Given the description of an element on the screen output the (x, y) to click on. 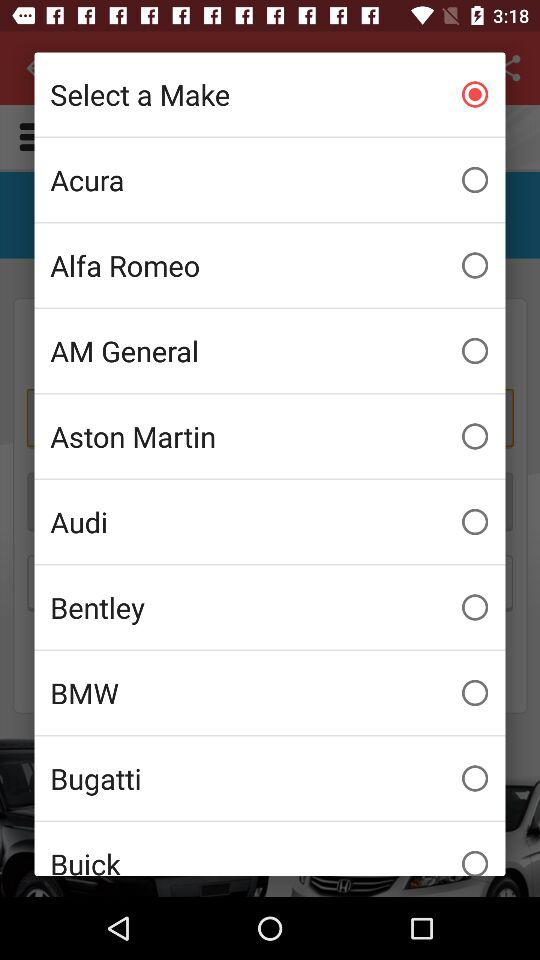
open the item above acura item (269, 94)
